Given the description of an element on the screen output the (x, y) to click on. 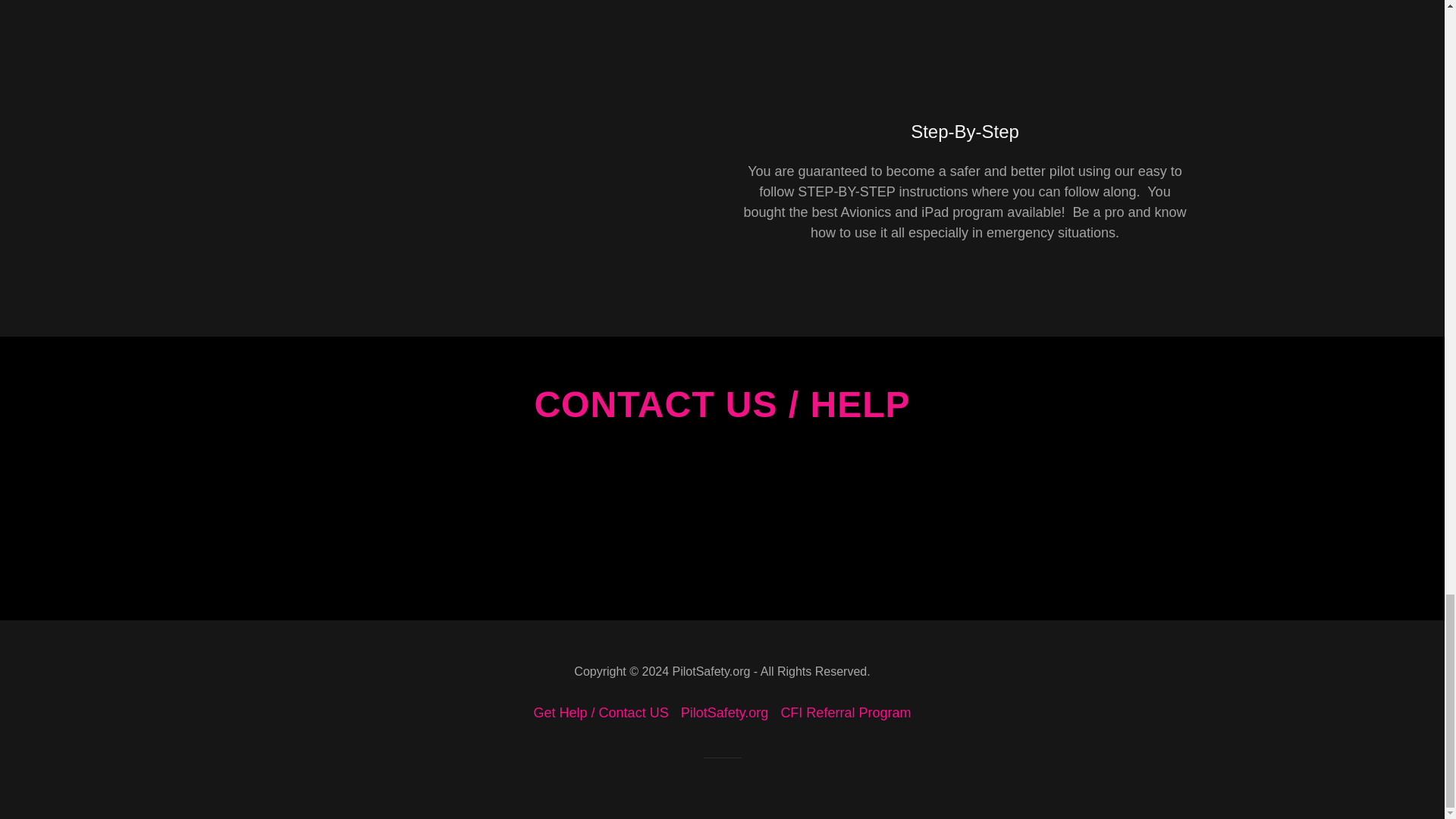
CFI Referral Program (845, 713)
PilotSafety.org (724, 713)
